Given the description of an element on the screen output the (x, y) to click on. 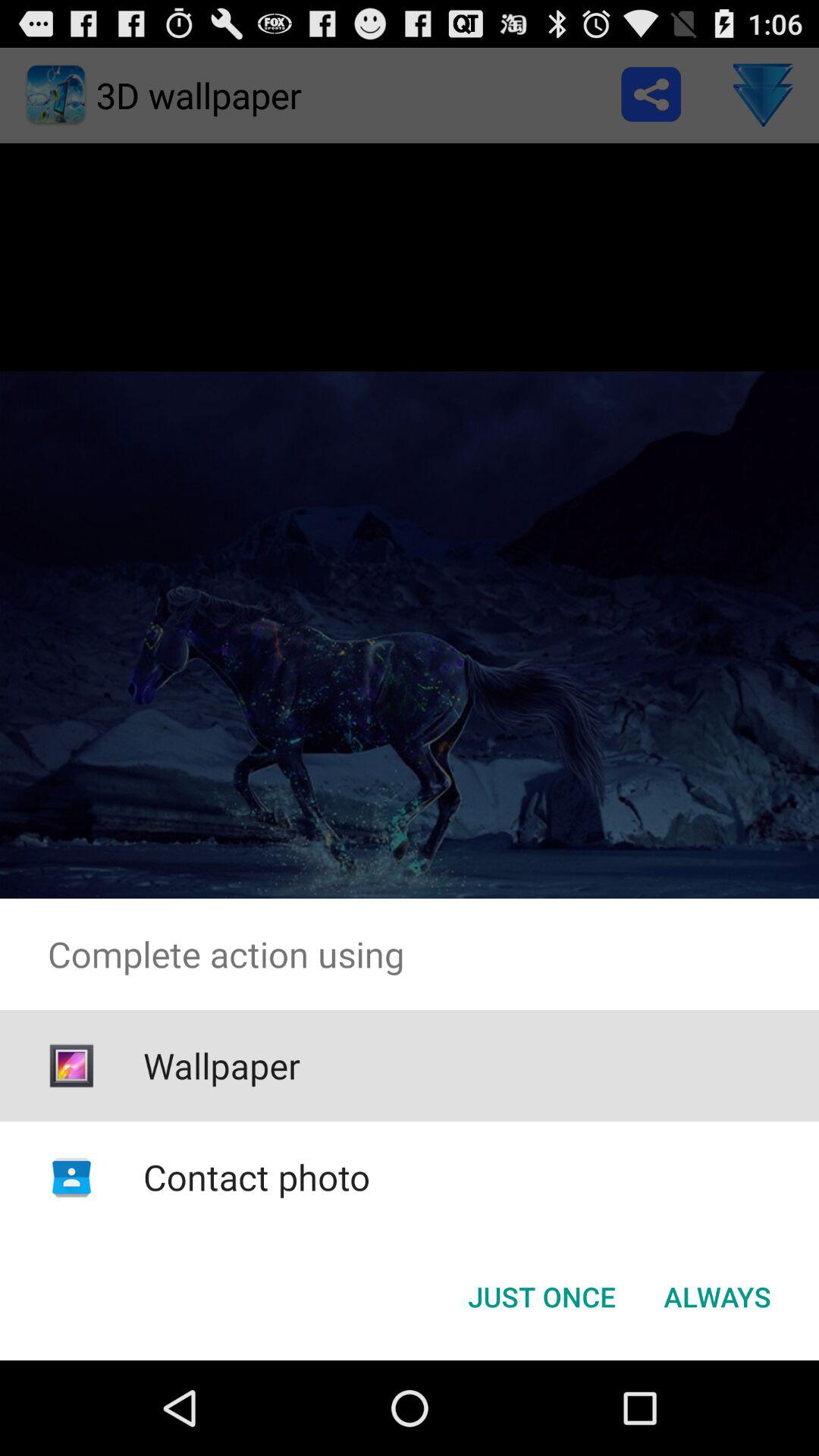
press icon next to the always button (541, 1296)
